Given the description of an element on the screen output the (x, y) to click on. 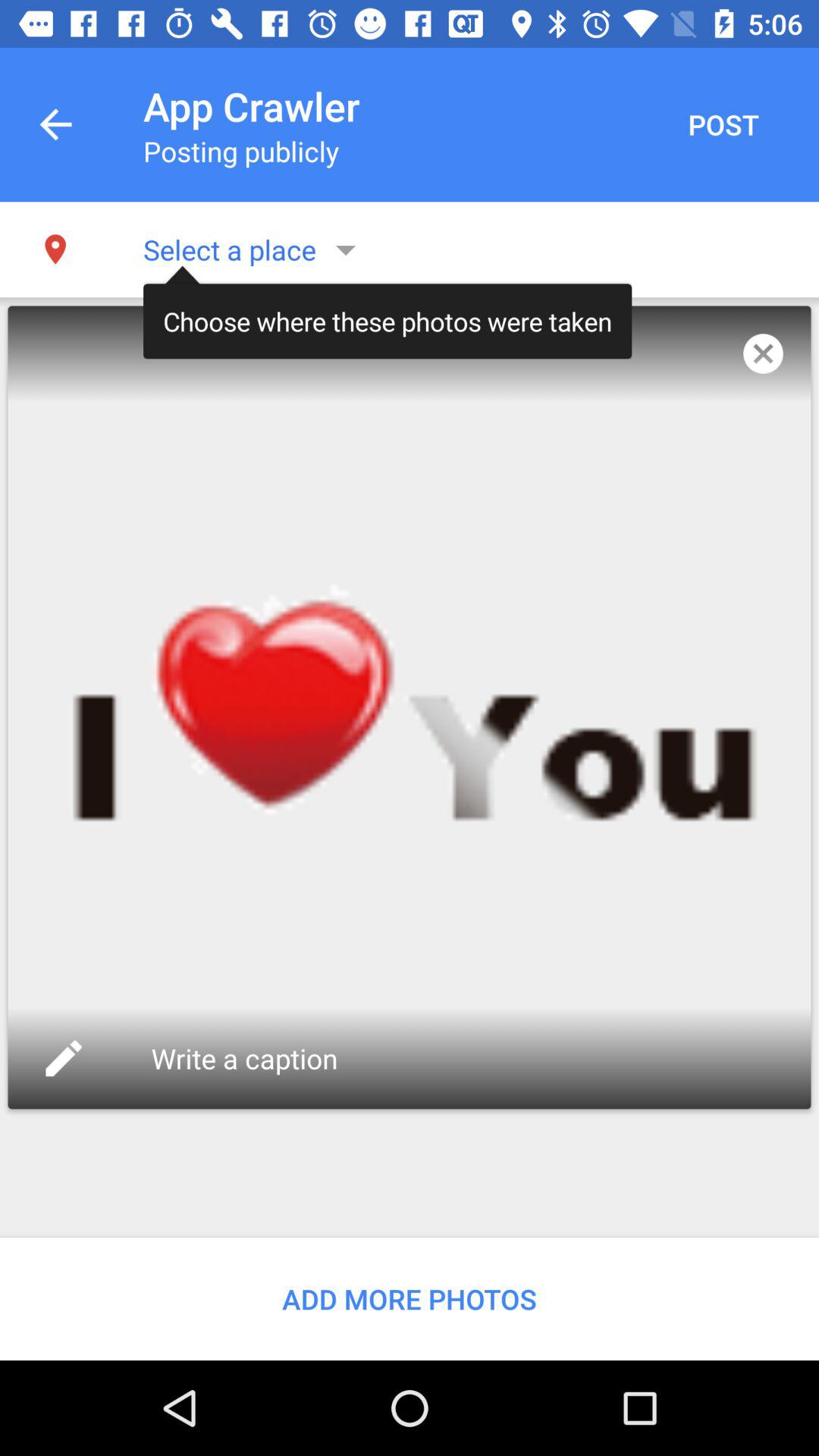
tap the app to the left of the app crawler icon (55, 124)
